Given the description of an element on the screen output the (x, y) to click on. 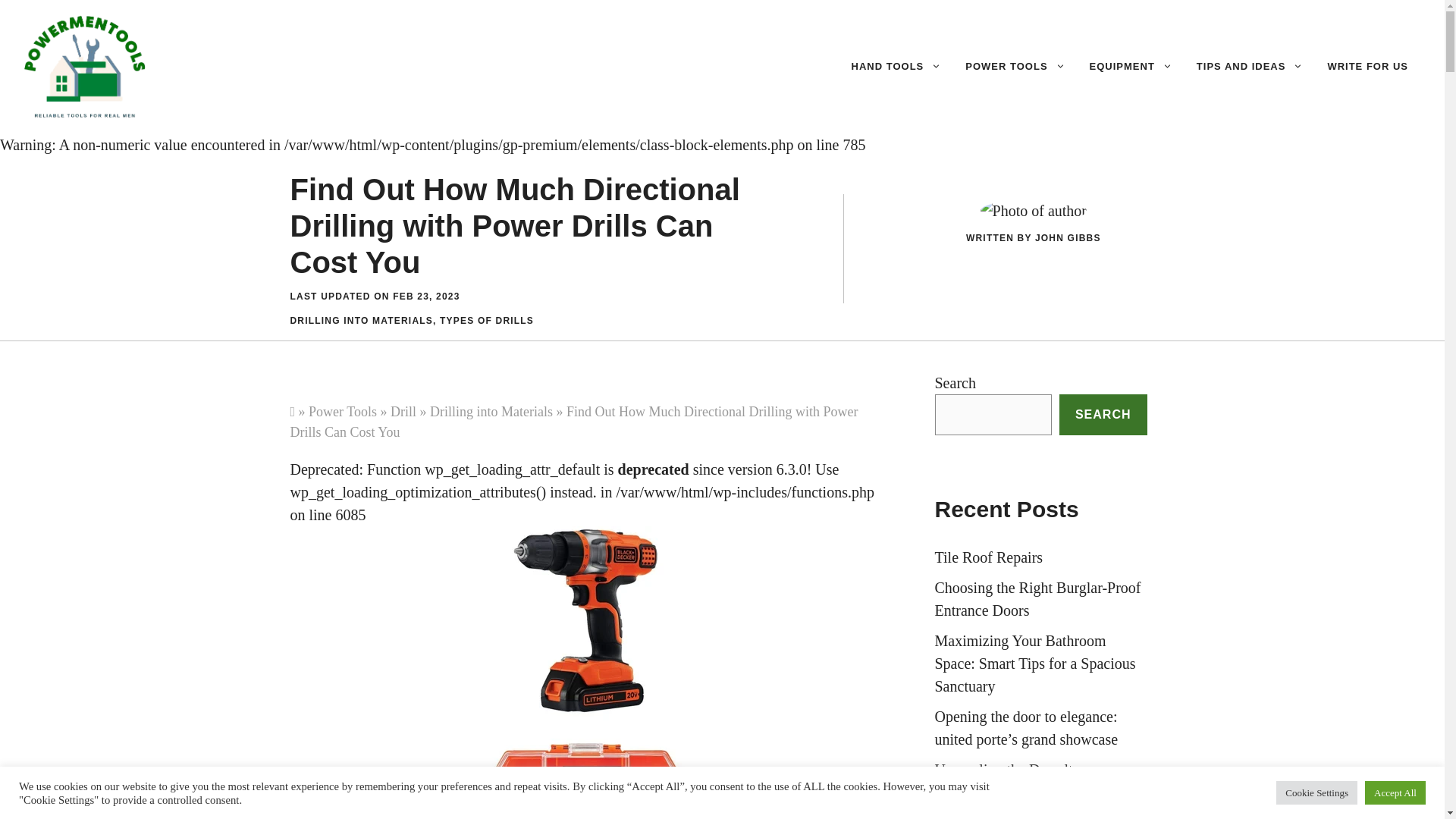
HAND TOOLS (896, 66)
TIPS AND IDEAS (1250, 66)
EQUIPMENT (1131, 66)
POWER TOOLS (1015, 66)
